Given the description of an element on the screen output the (x, y) to click on. 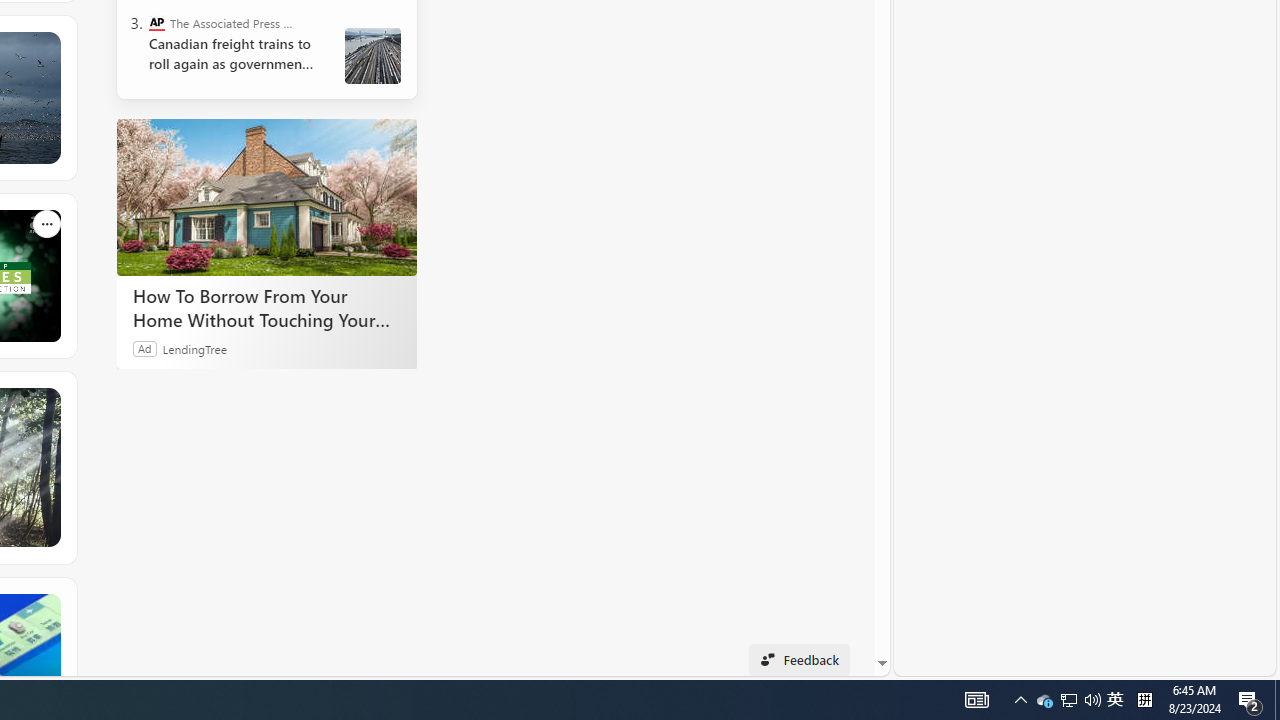
LendingTree (194, 348)
The Associated Press - Business News (156, 22)
 Canada Railroads Unions (372, 56)
